Given the description of an element on the screen output the (x, y) to click on. 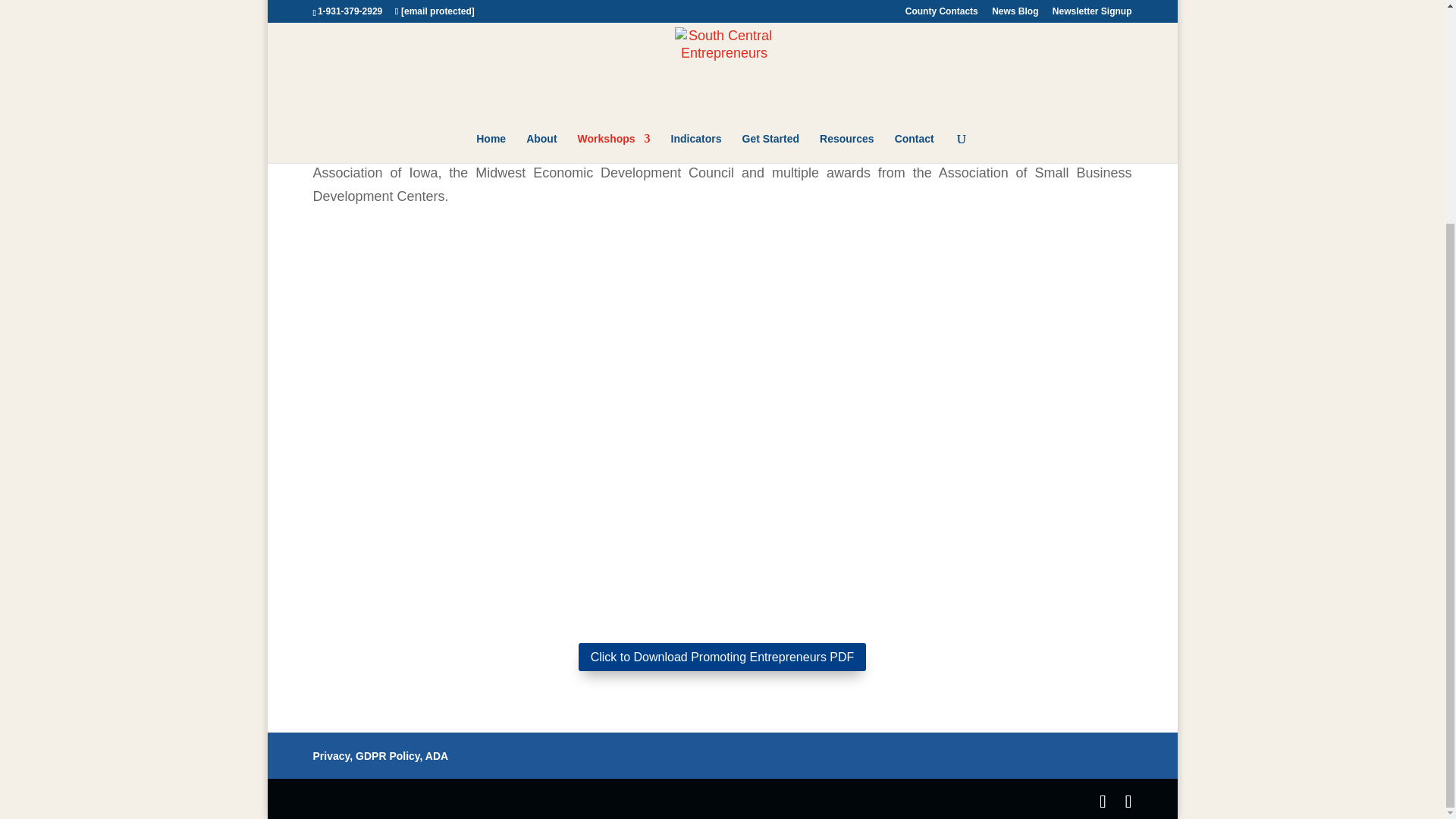
Click to Download Promoting Entrepreneurs PDF (722, 656)
Privacy, GDPR Policy, ADA (380, 756)
